Given the description of an element on the screen output the (x, y) to click on. 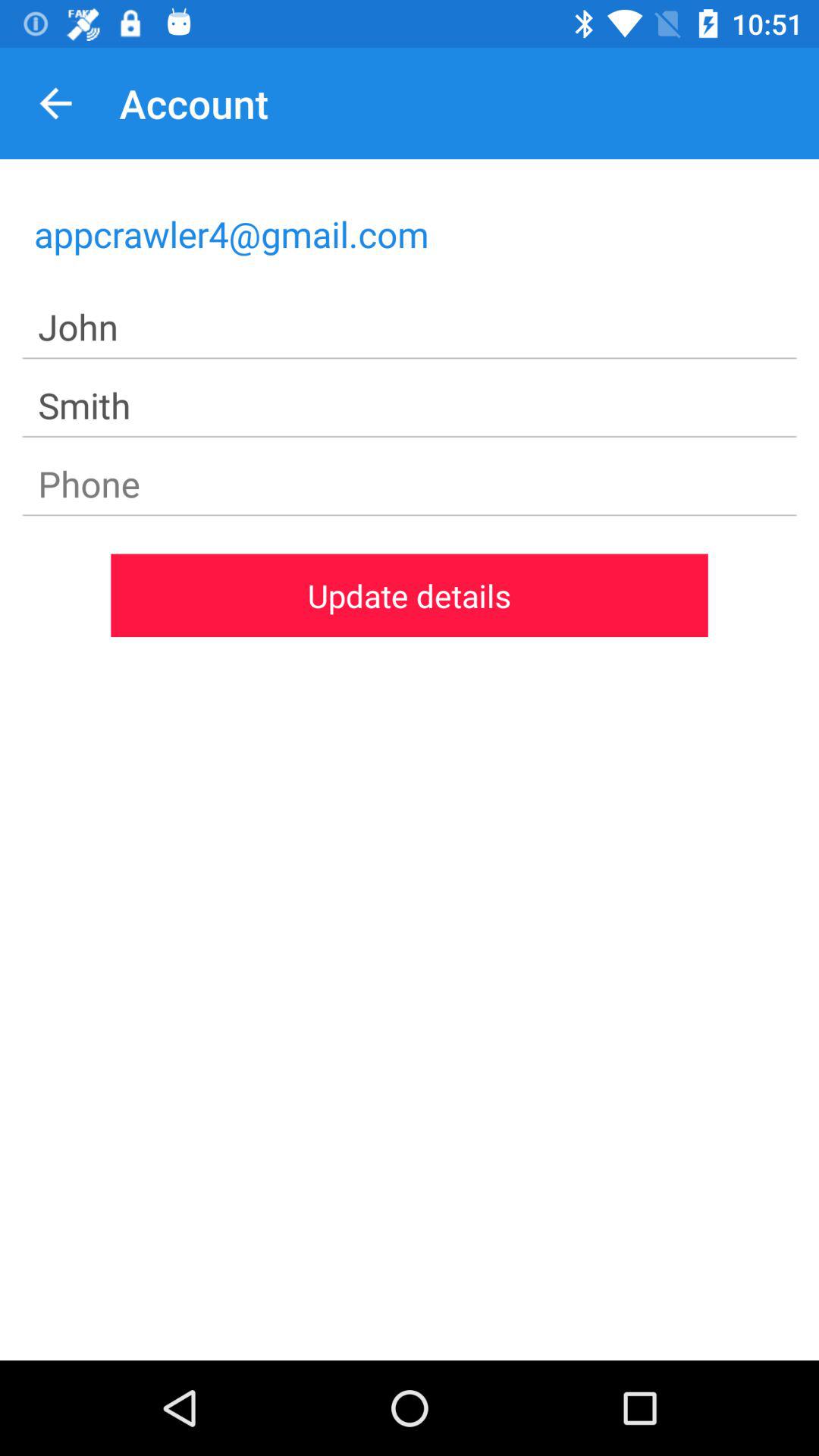
flip until the appcrawler4@gmail.com icon (409, 233)
